Given the description of an element on the screen output the (x, y) to click on. 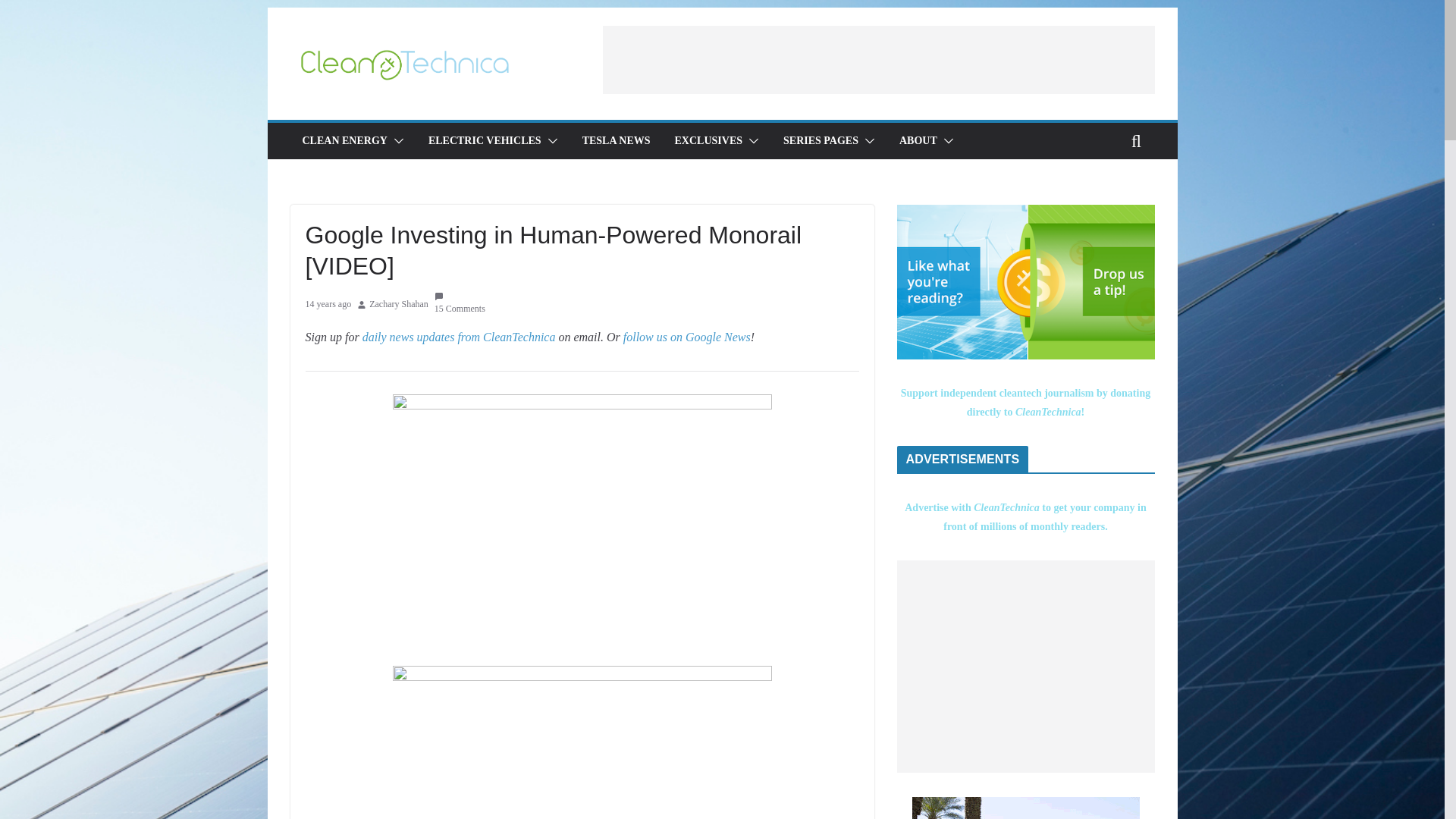
ELECTRIC VEHICLES (484, 140)
SERIES PAGES (821, 140)
Advertisement (878, 59)
Zachary Shahan (398, 304)
Advertisement (1025, 666)
TESLA NEWS (616, 140)
EXCLUSIVES (708, 140)
CLEAN ENERGY (344, 140)
